Given the description of an element on the screen output the (x, y) to click on. 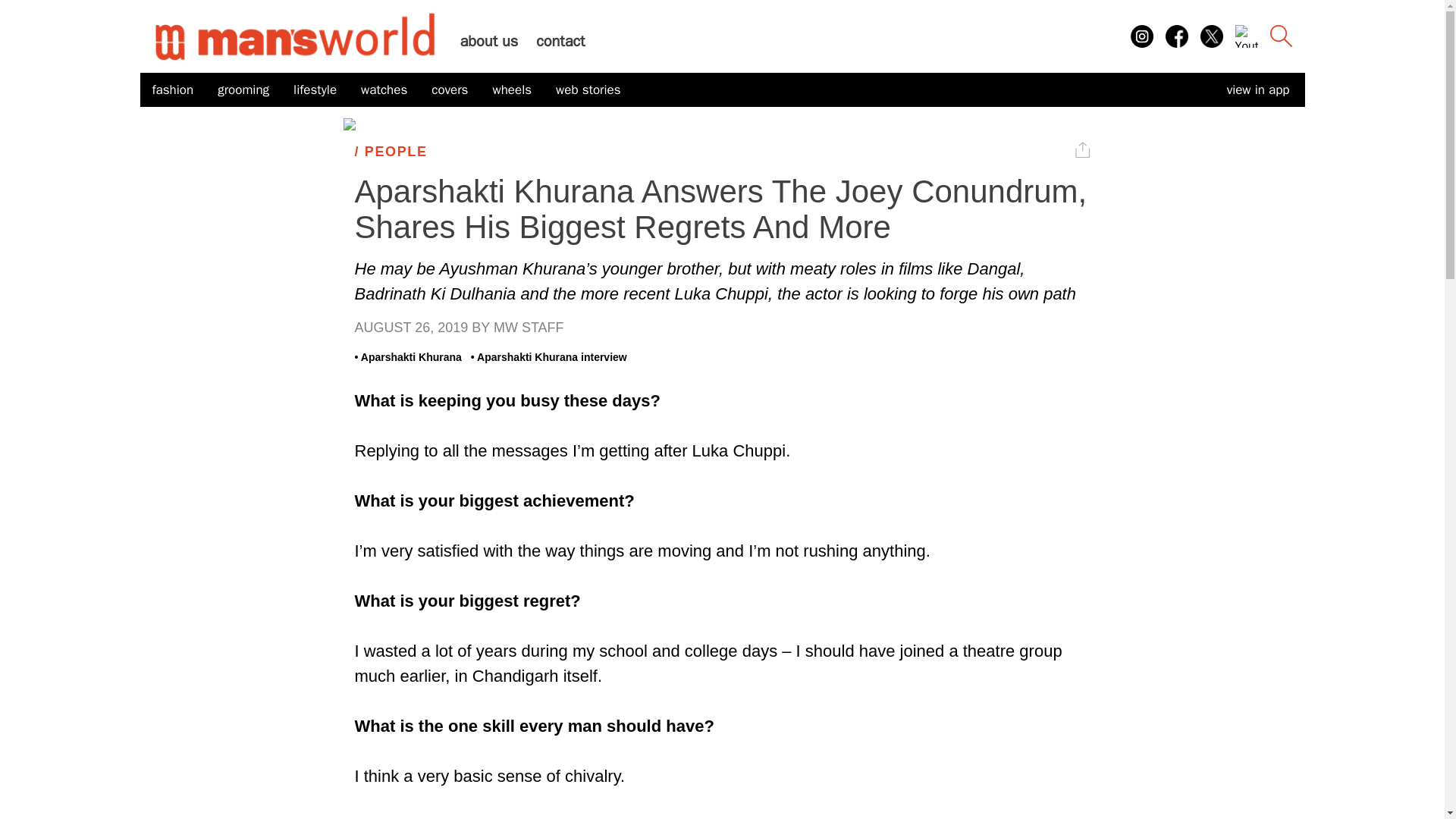
AUGUST 26, 2019 BY MW STAFF (722, 327)
view in app (1257, 89)
covers (449, 90)
wheels (511, 90)
about us (489, 41)
watches (384, 90)
contact (560, 41)
web stories (588, 90)
grooming (243, 90)
fashion (172, 90)
